Given the description of an element on the screen output the (x, y) to click on. 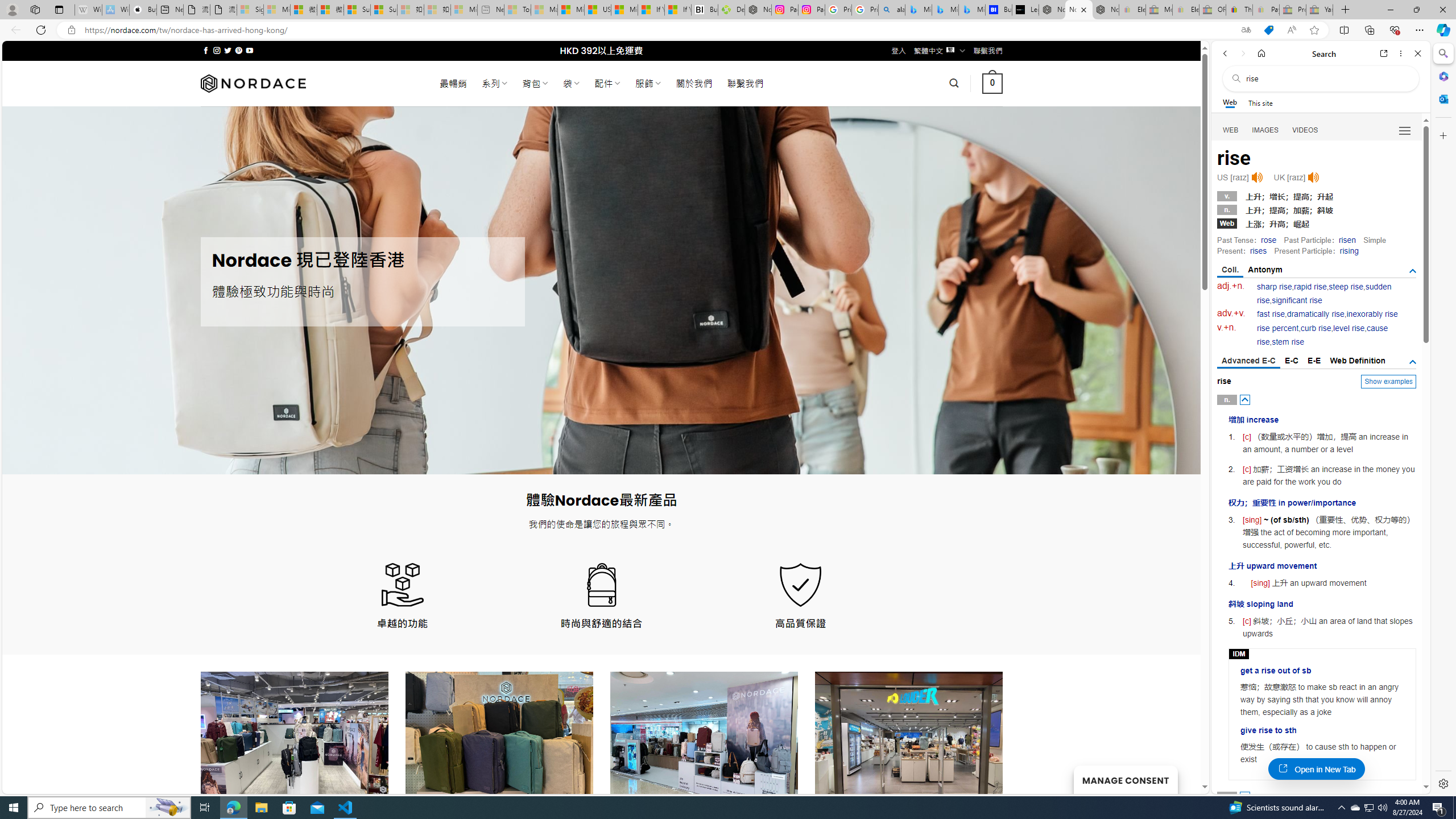
rapid rise (1310, 286)
Follow on Twitter (227, 50)
steep rise (1345, 286)
AutomationID: posbtn_1 (1245, 796)
US Heat Deaths Soared To Record High Last Year (597, 9)
